Given the description of an element on the screen output the (x, y) to click on. 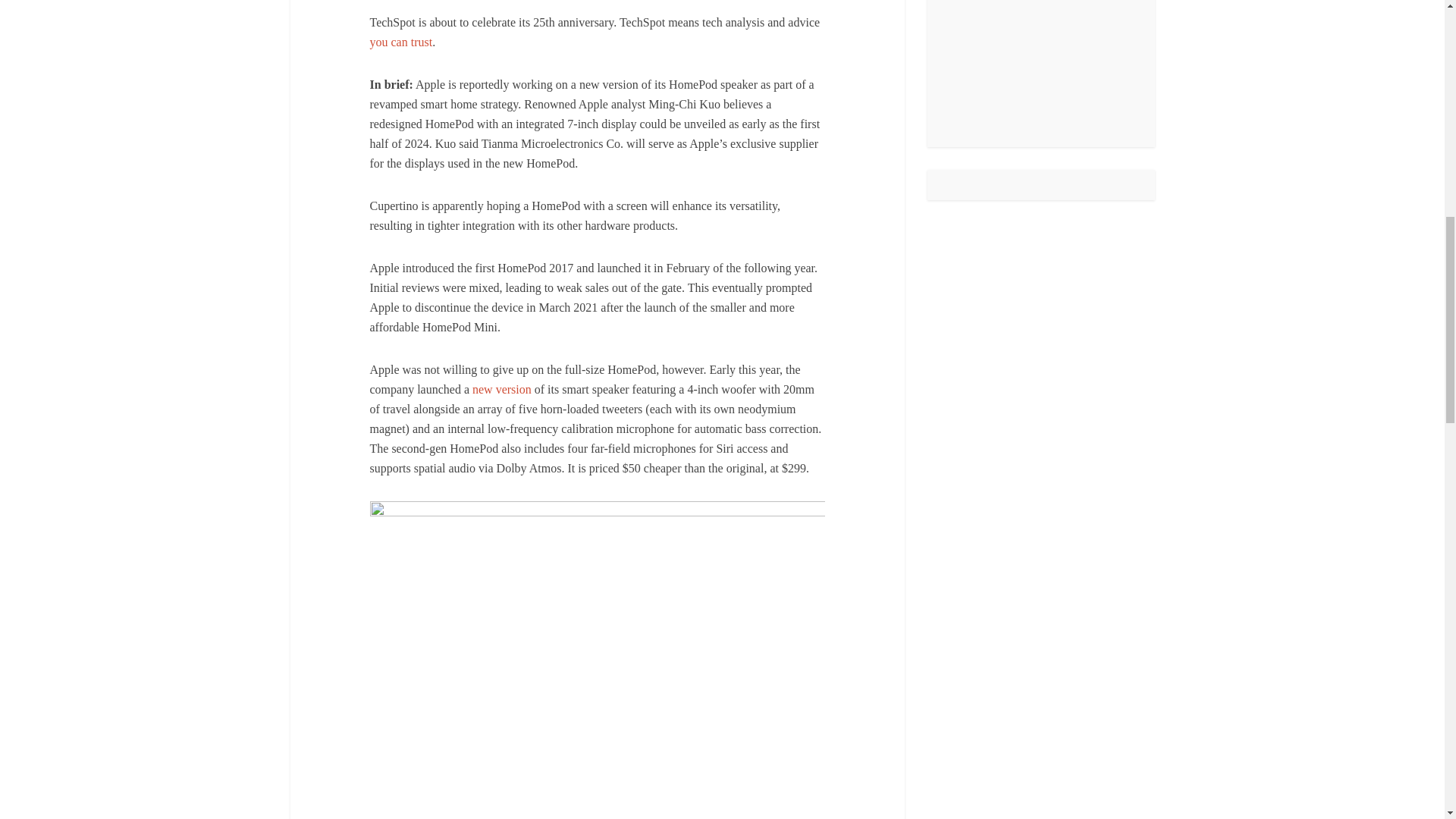
you can trust (400, 42)
Google Chrome is now releasing security updates weekly (1040, 27)
new version (501, 389)
WhatsApp finally lets you do screen sharing in video calls (1040, 64)
